Given the description of an element on the screen output the (x, y) to click on. 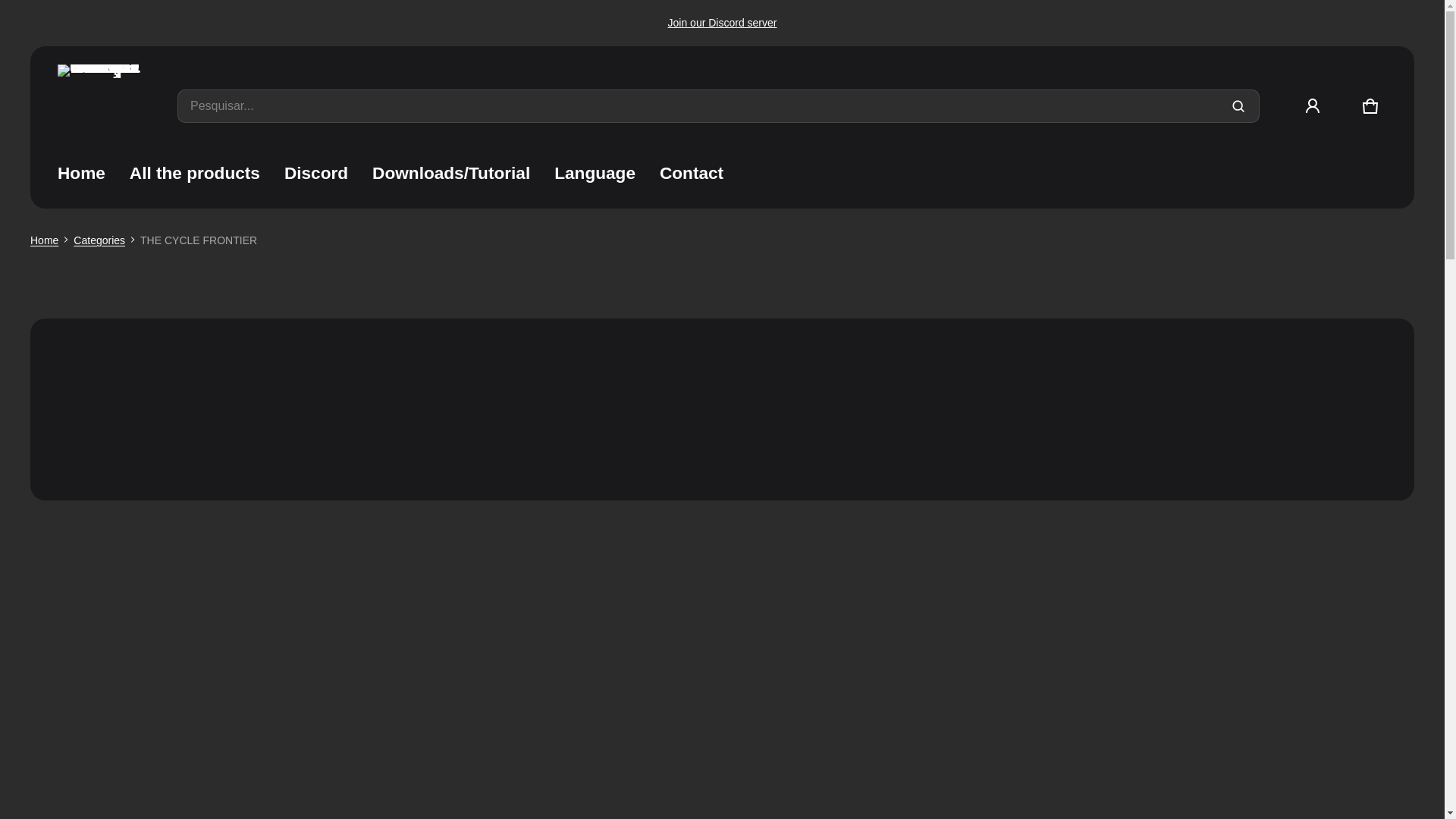
Categories (99, 240)
Home (81, 173)
Home (44, 240)
Discord (315, 173)
Contact (1370, 105)
Language (691, 173)
All the products (594, 173)
Join our Discord server (194, 173)
